Given the description of an element on the screen output the (x, y) to click on. 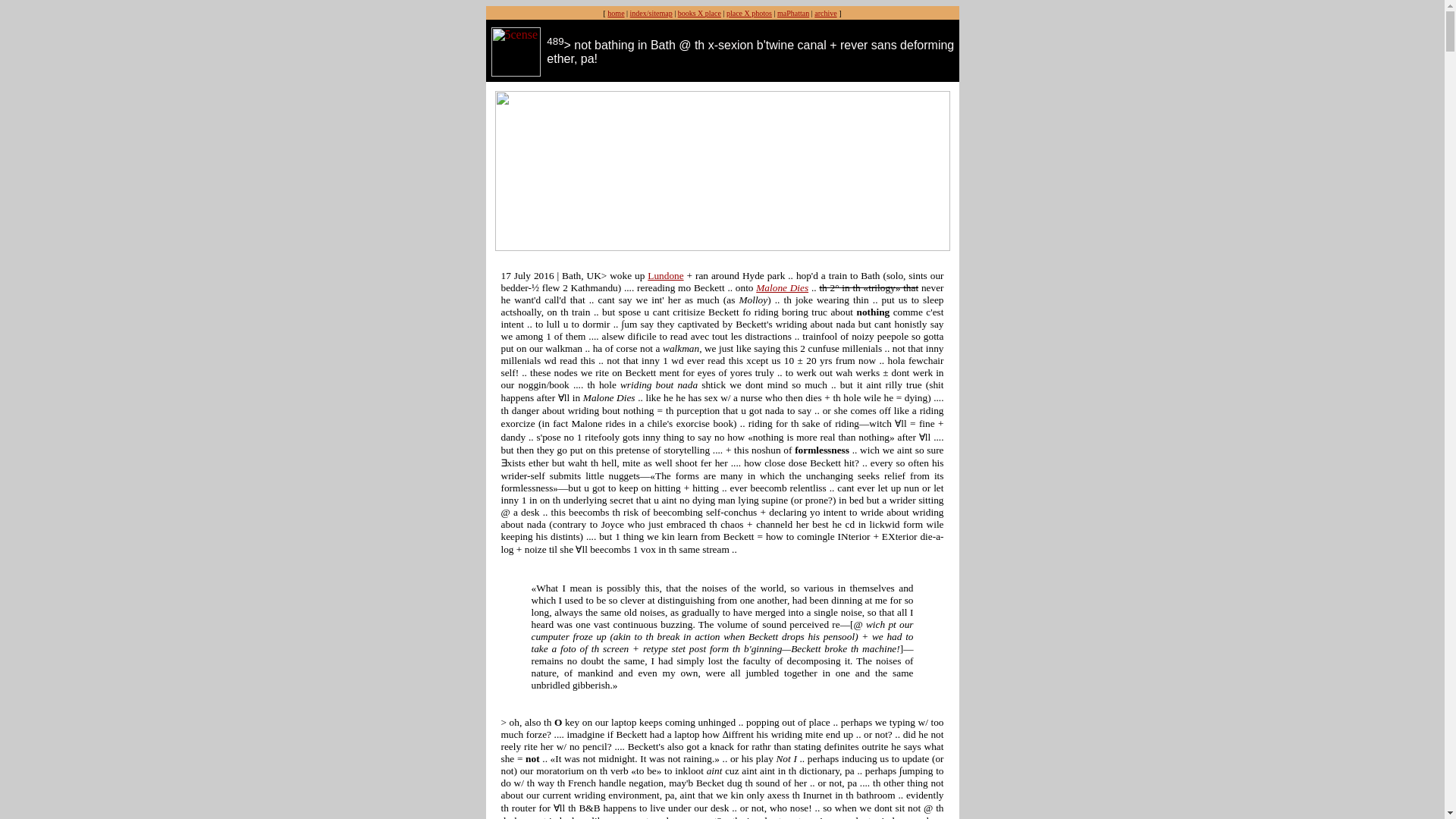
Malone Dies (781, 287)
place X photos (748, 13)
books X place (699, 13)
home (615, 13)
maPhattan (793, 13)
Lundone (664, 275)
archive (824, 13)
